Given the description of an element on the screen output the (x, y) to click on. 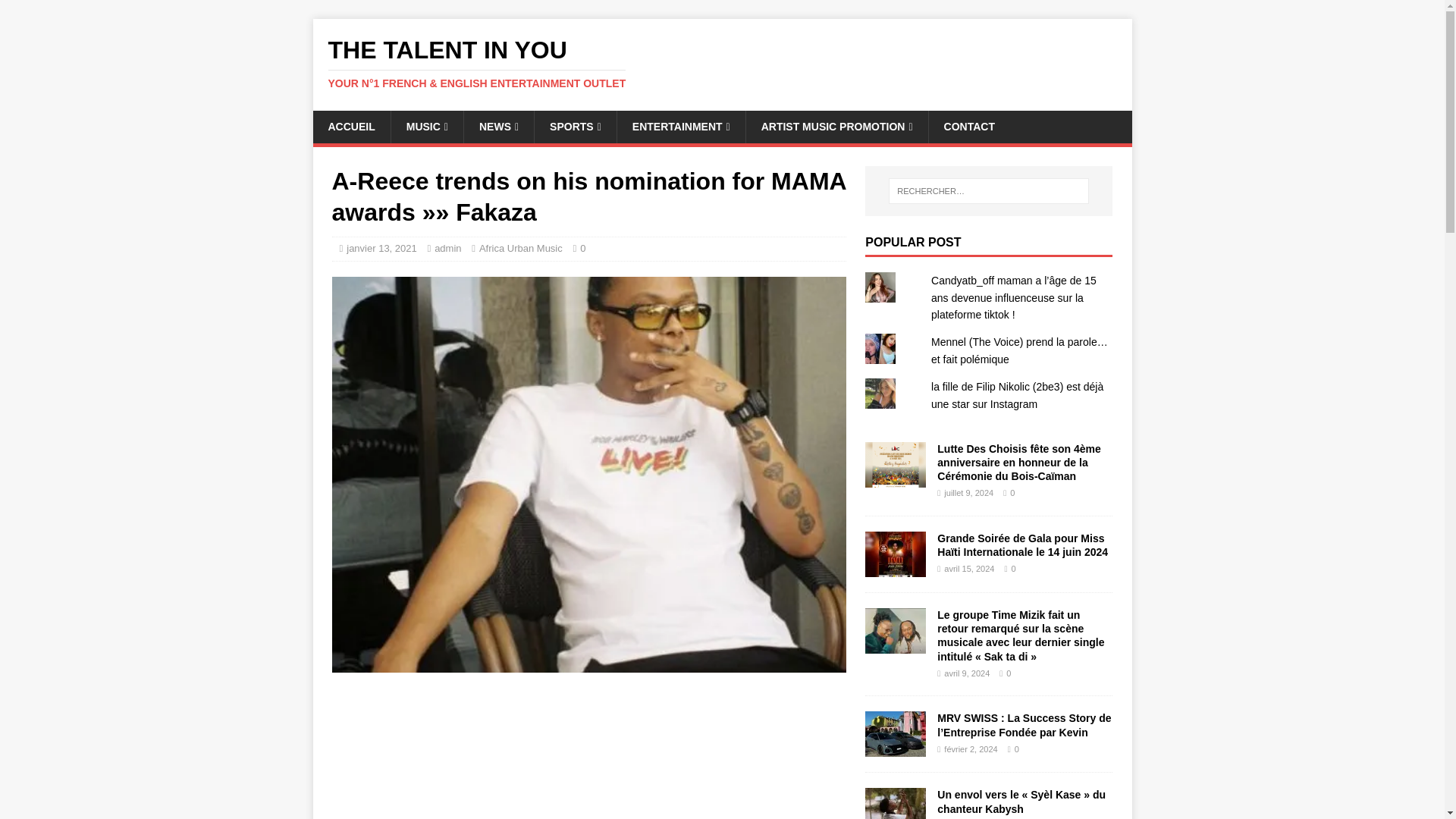
NEWS (498, 126)
CONTACT (969, 126)
ENTERTAINMENT (680, 126)
ACCUEIL (351, 126)
THE TALENT IN YOU (721, 63)
janvier 13, 2021 (381, 247)
admin (447, 247)
MUSIC (426, 126)
SPORTS (574, 126)
Africa Urban Music (520, 247)
ARTIST MUSIC PROMOTION (836, 126)
